Given the description of an element on the screen output the (x, y) to click on. 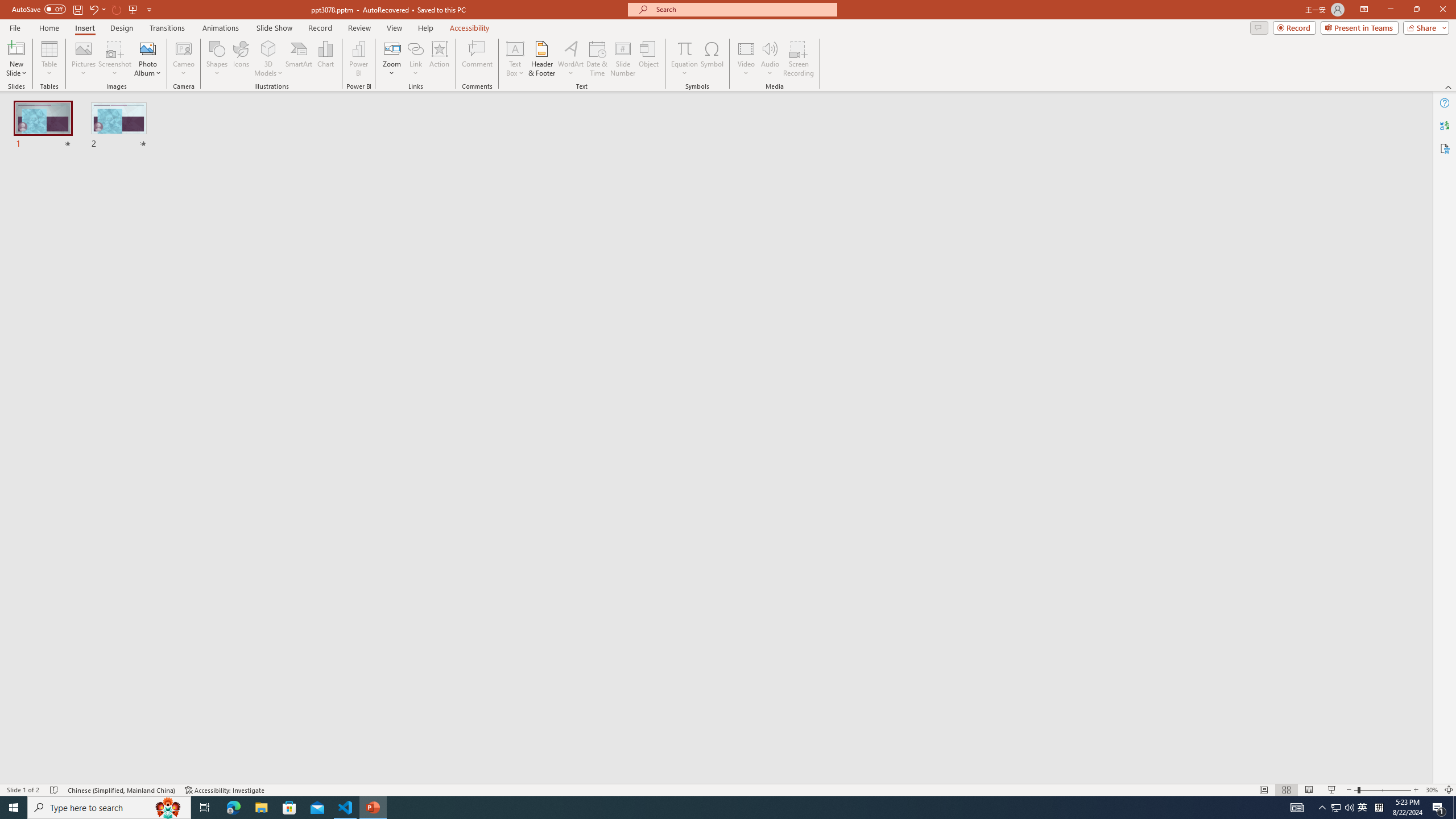
Gmail (362, 78)
test.ipynb (491, 183)
Microsoft Rewards (940, 122)
Microsoft Cashback (964, 123)
Outline Section (188, 615)
+86 159 0032 4640 (983, 382)
Close Dialog (545, 387)
Transformer Circuits Thread (713, 78)
